Given the description of an element on the screen output the (x, y) to click on. 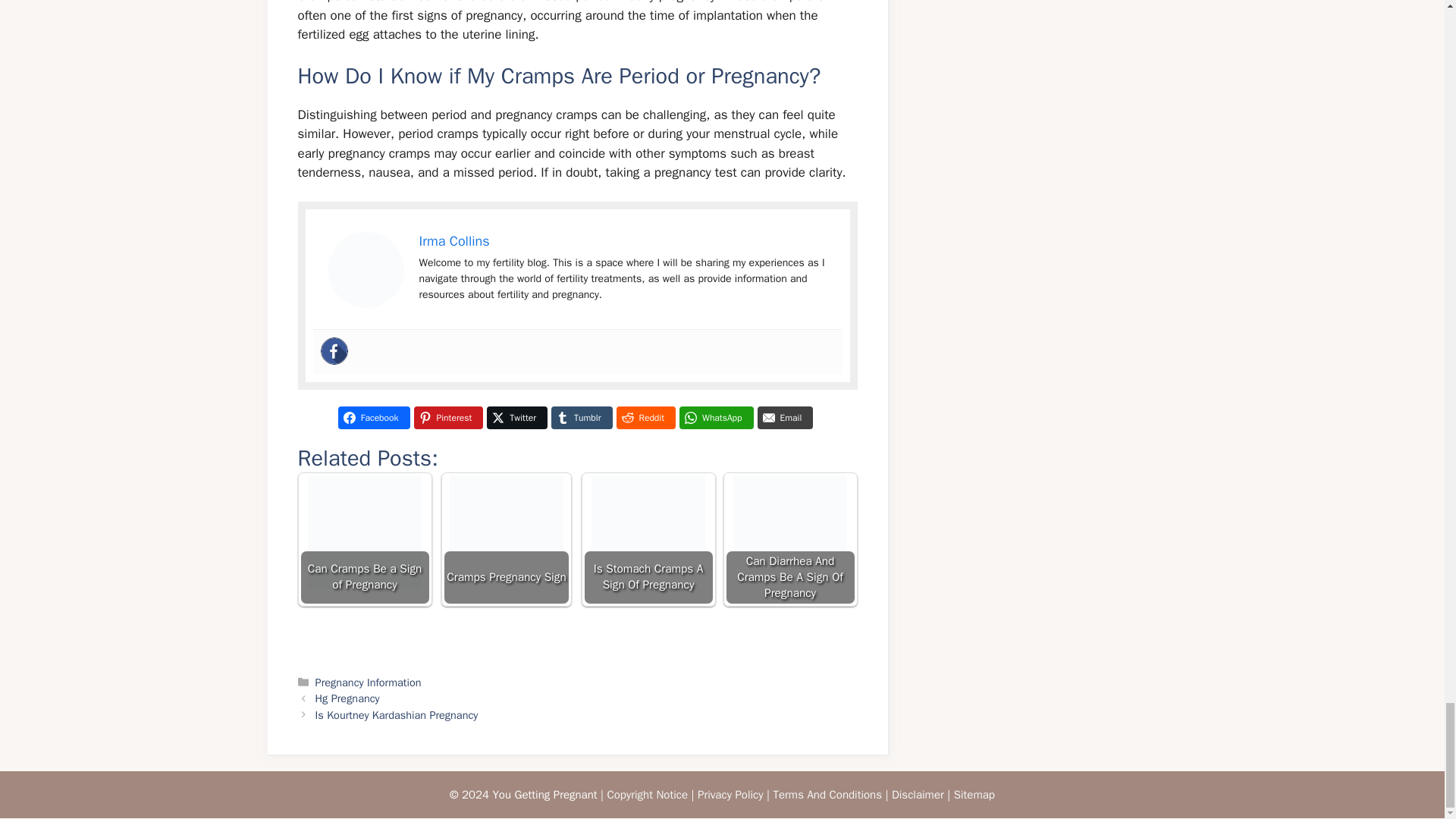
Irma Collins (454, 240)
Pinterest (448, 417)
Facebook (373, 417)
